Given the description of an element on the screen output the (x, y) to click on. 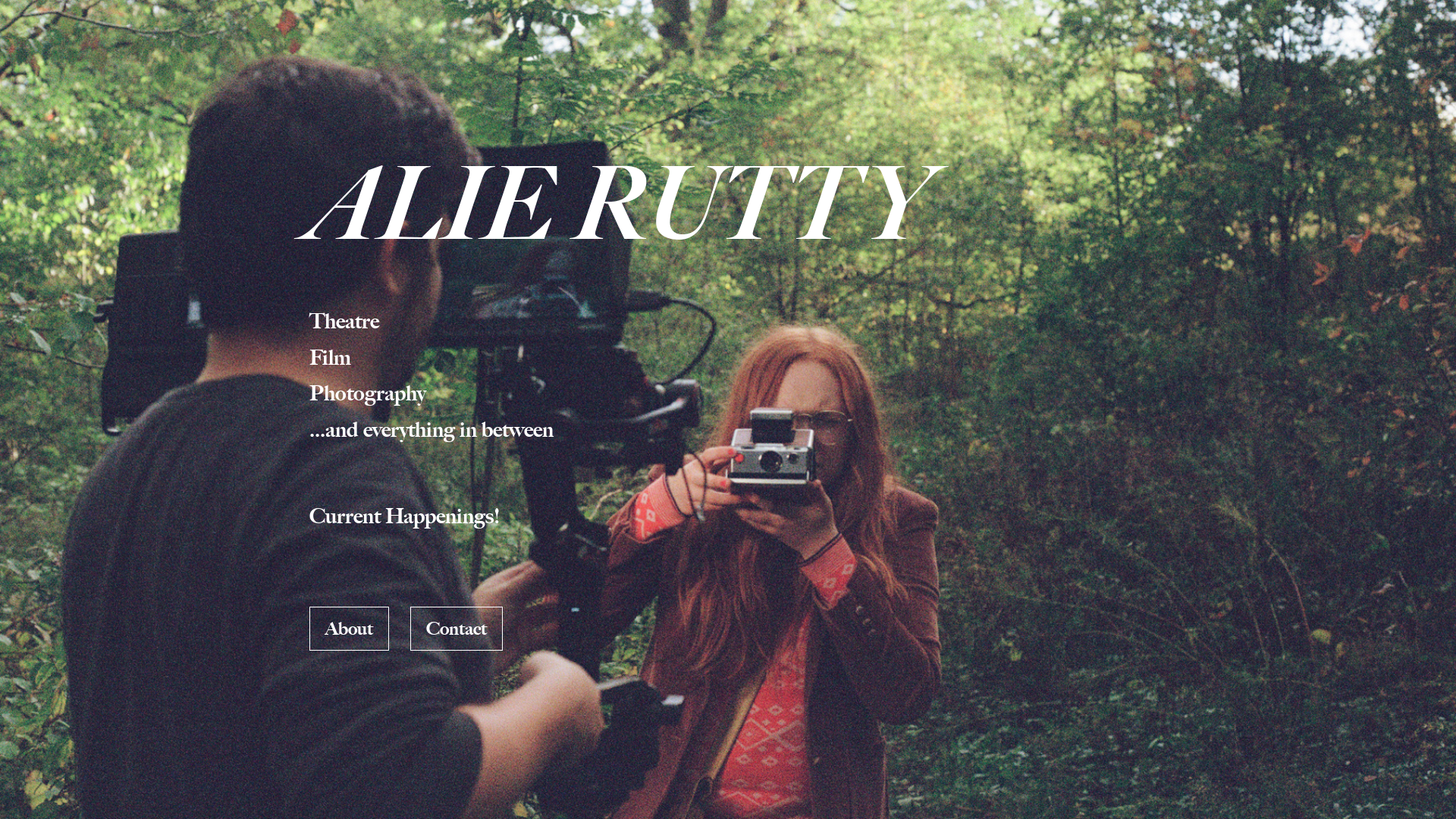
Film Element type: text (330, 357)
...and everything in between Element type: text (431, 429)
Current Happenings! Element type: text (404, 515)
Contact Element type: text (456, 628)
Photography Element type: text (367, 392)
Theatre Element type: text (344, 320)
About Element type: text (349, 628)
